Given the description of an element on the screen output the (x, y) to click on. 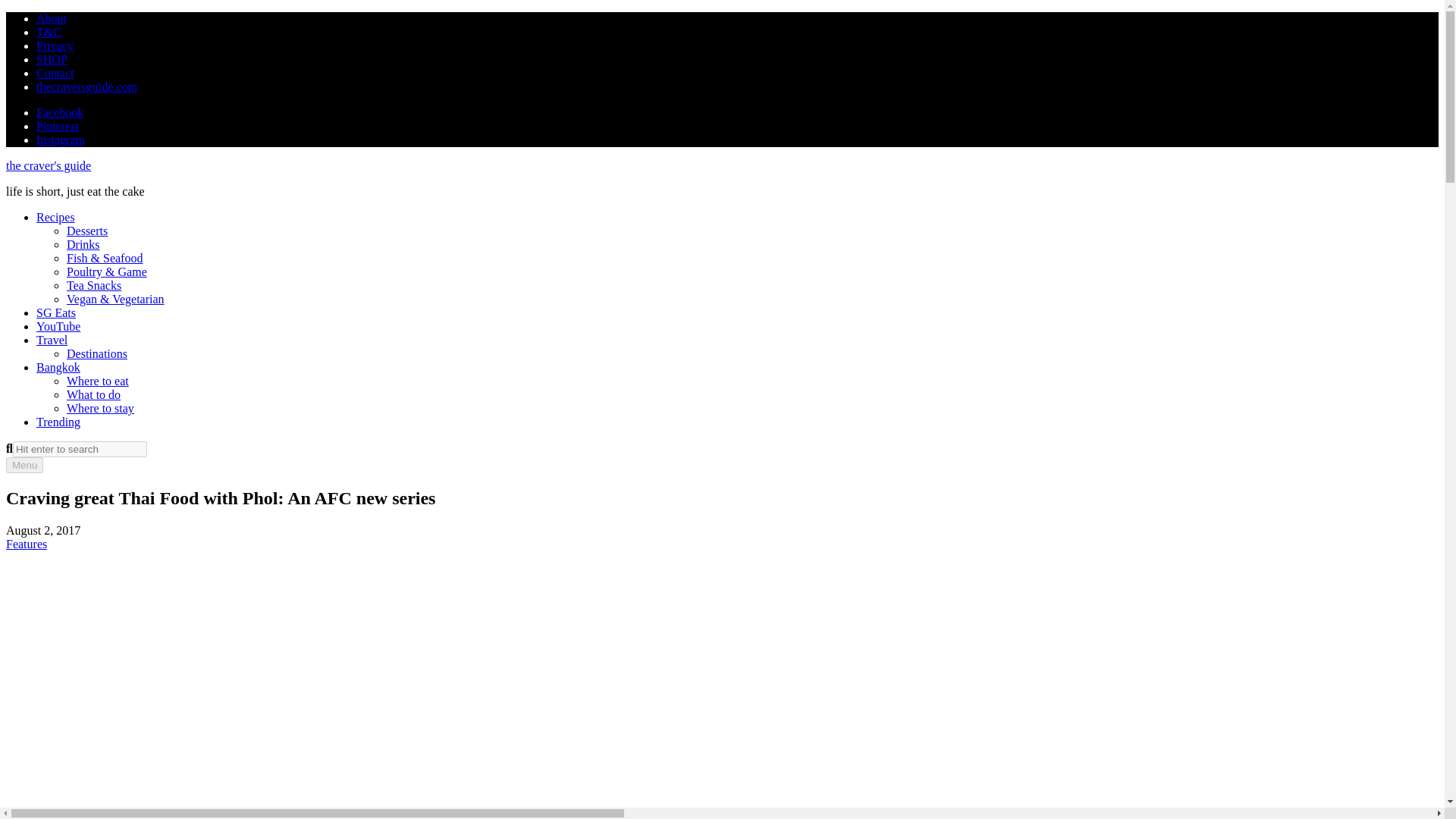
YouTube (58, 326)
thecraversguide.com (86, 86)
the craver's guide (47, 164)
Travel (51, 339)
Bangkok (58, 367)
Menu (24, 465)
Features (25, 543)
Tea Snacks (93, 285)
Trending (58, 421)
Destinations (97, 353)
Desserts (86, 230)
Pinterest (57, 125)
About (51, 18)
SHOP (51, 59)
Drinks (83, 244)
